Given the description of an element on the screen output the (x, y) to click on. 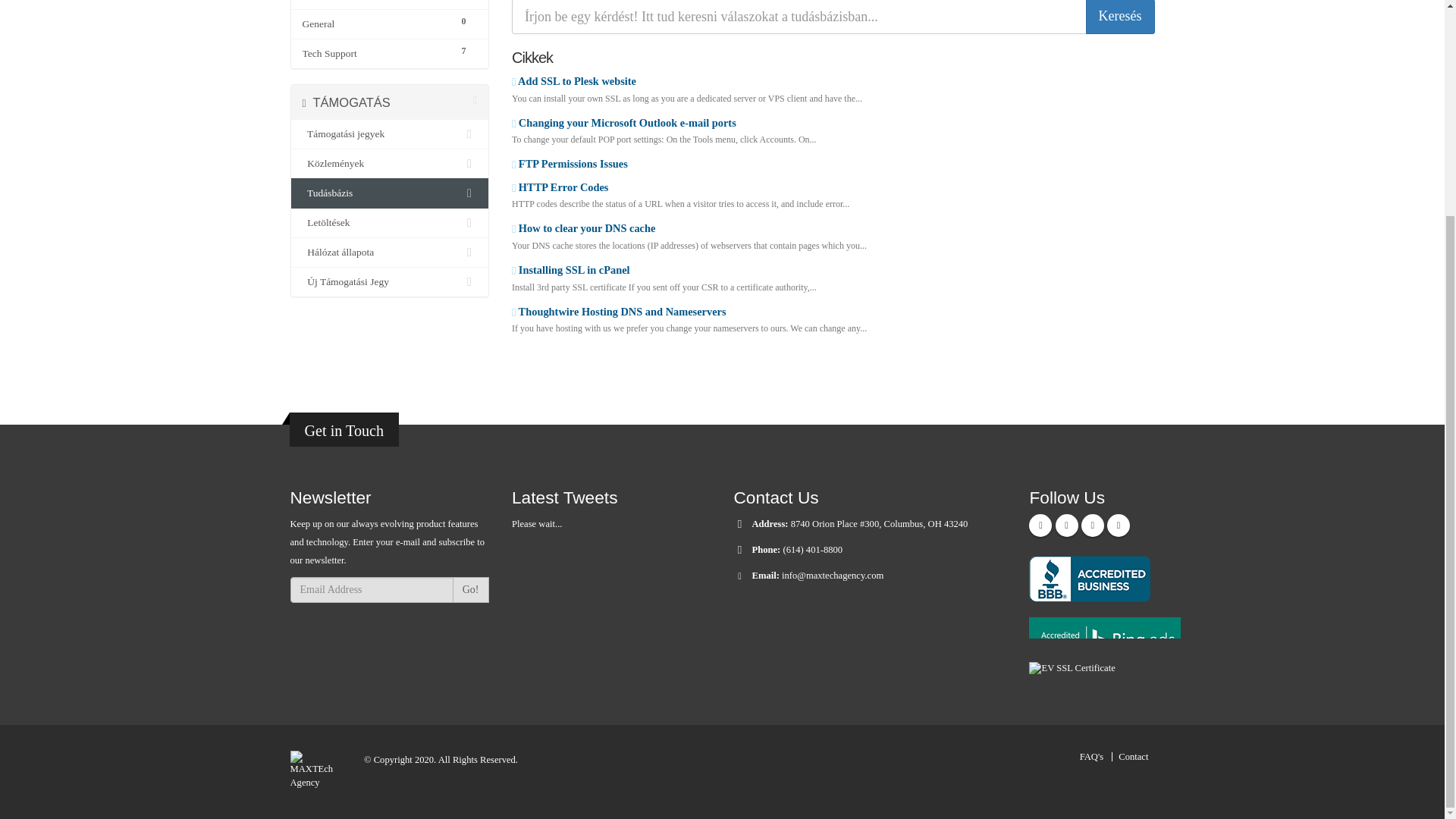
Facebook (1040, 525)
InstaGram (1117, 525)
Twitter (1066, 525)
Linkedin (1092, 525)
